Given the description of an element on the screen output the (x, y) to click on. 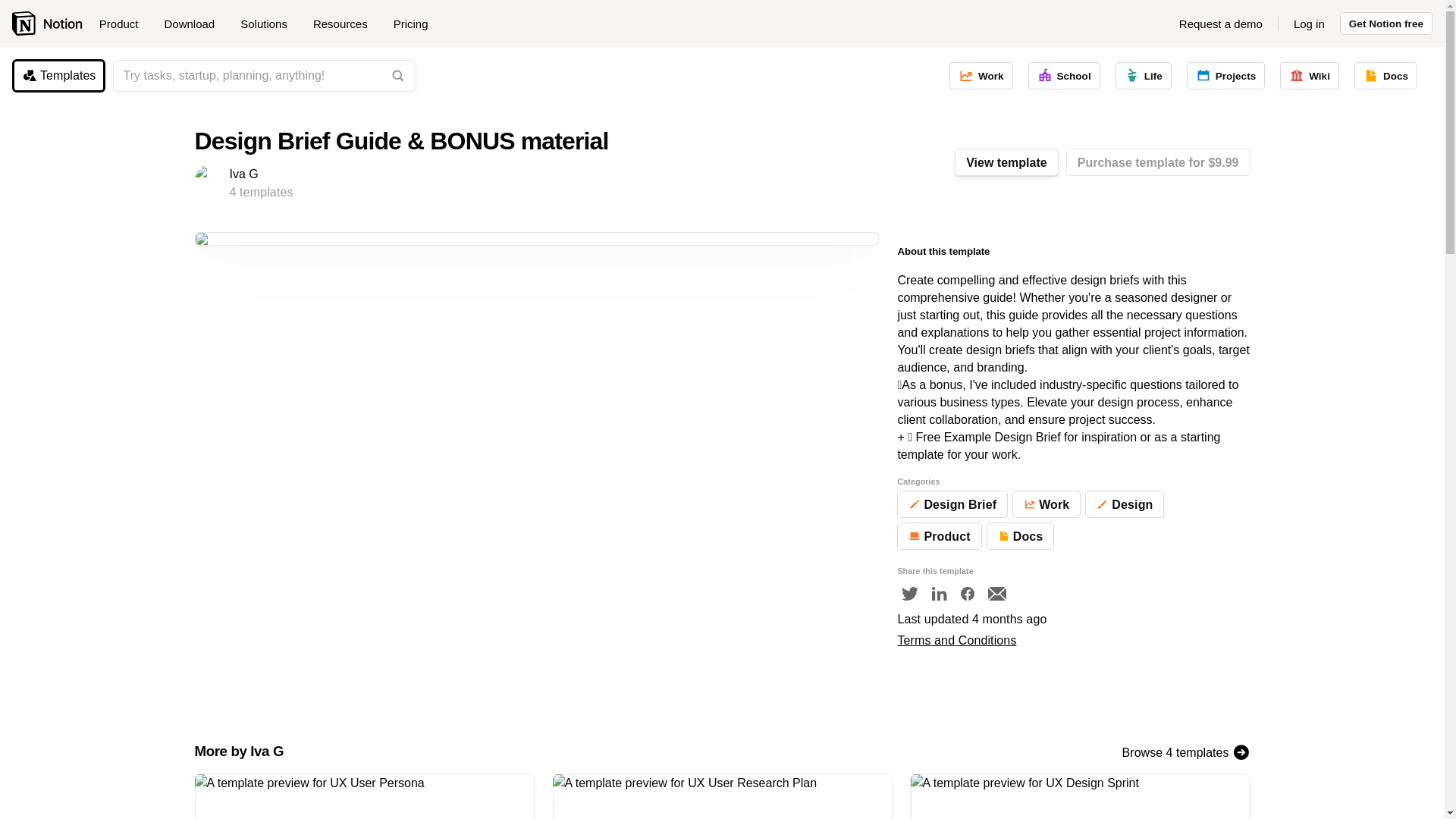
Resources (345, 23)
Download (193, 23)
Product (124, 23)
Search template gallery (398, 75)
Request a demo (1220, 23)
Solutions (268, 23)
Pricing (410, 23)
